Given the description of an element on the screen output the (x, y) to click on. 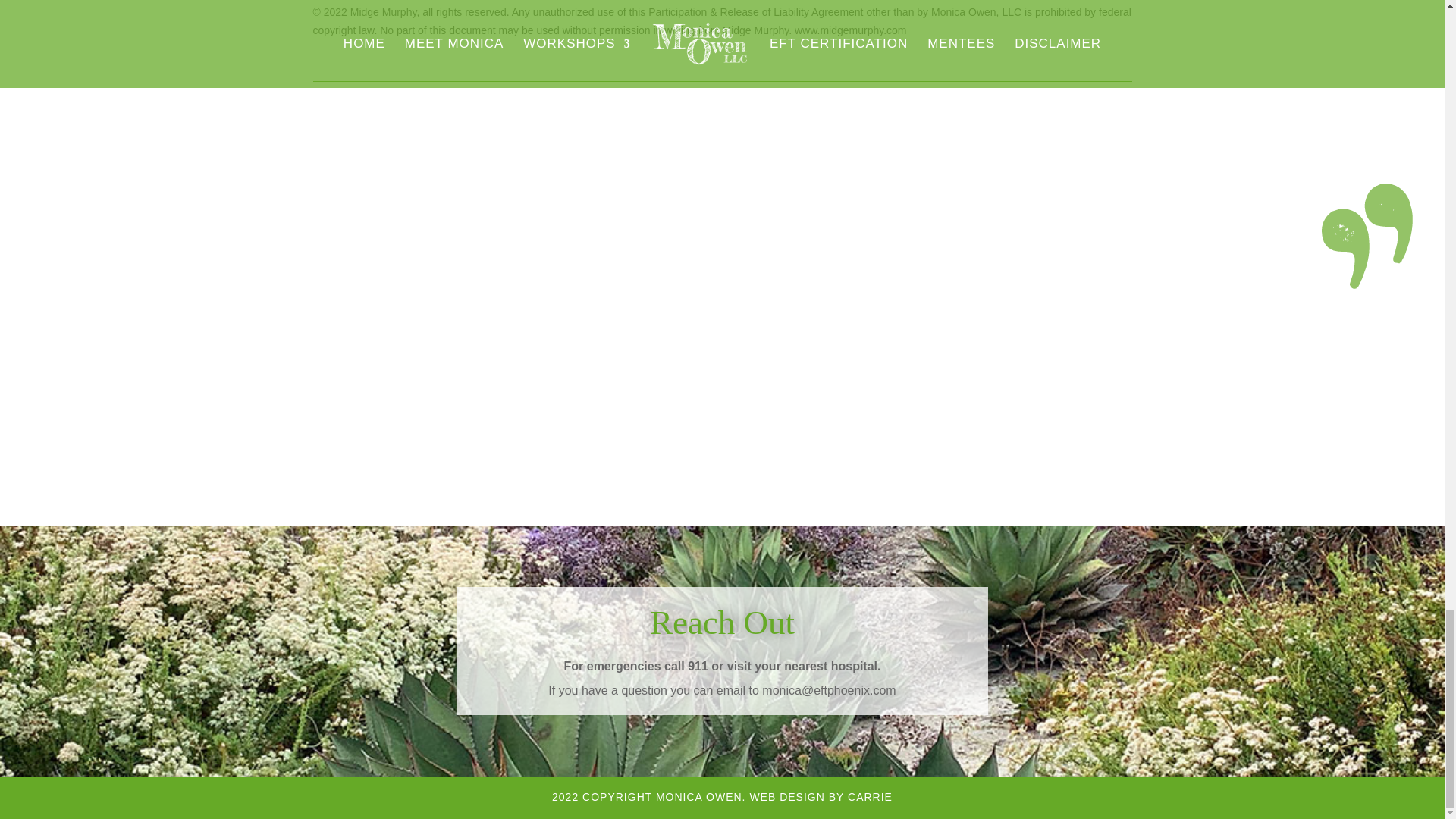
WEB DESIGN BY CARRIE (820, 797)
